Given the description of an element on the screen output the (x, y) to click on. 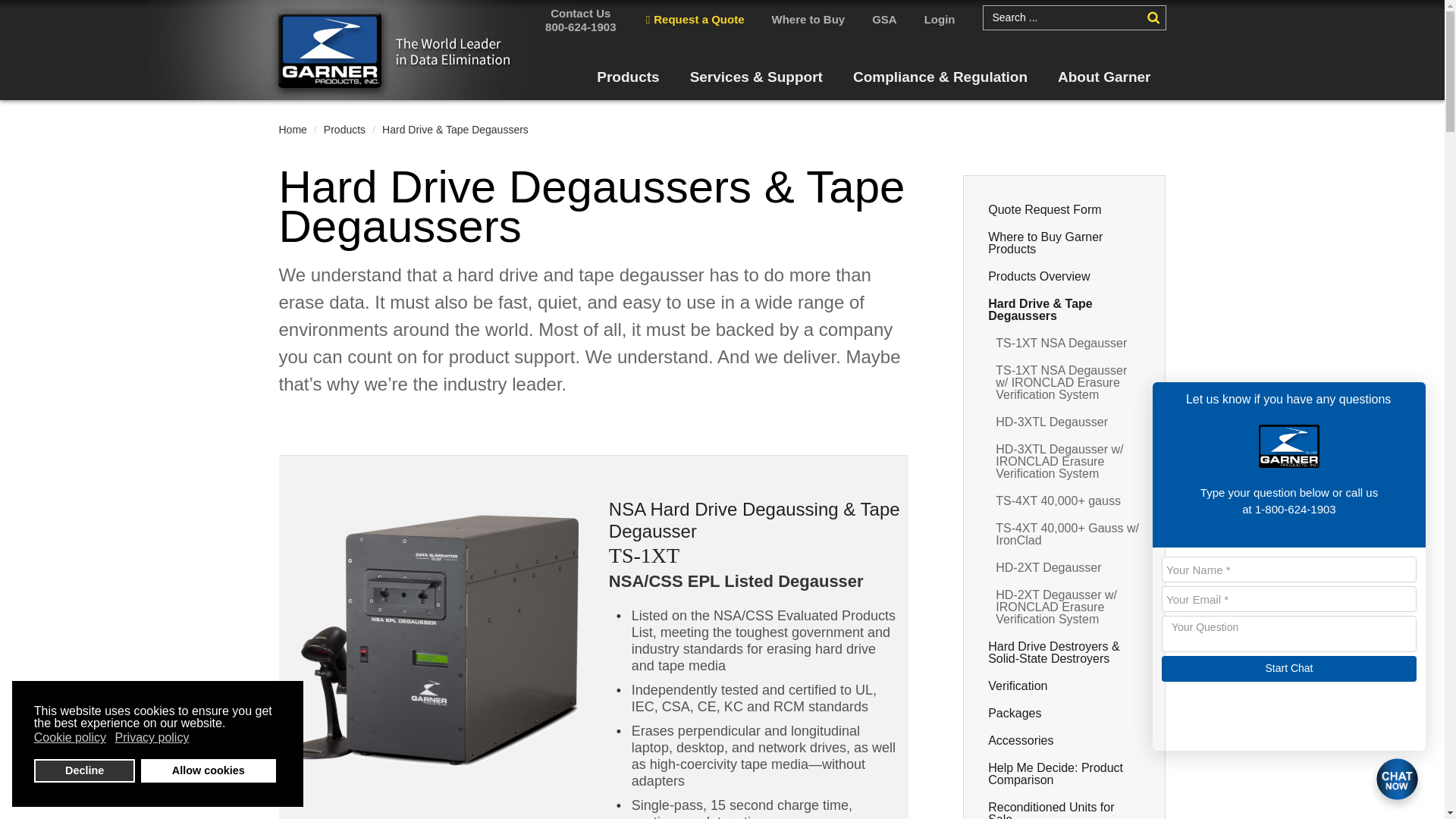
Products (627, 82)
Where to Buy (807, 19)
Decline (84, 770)
Login (939, 19)
Search ... (1064, 16)
Request a Quote (695, 19)
Contact Us (580, 13)
Search (1152, 17)
Allow cookies (208, 770)
Privacy policy (153, 737)
Cookie policy (70, 737)
Search (1152, 17)
